Given the description of an element on the screen output the (x, y) to click on. 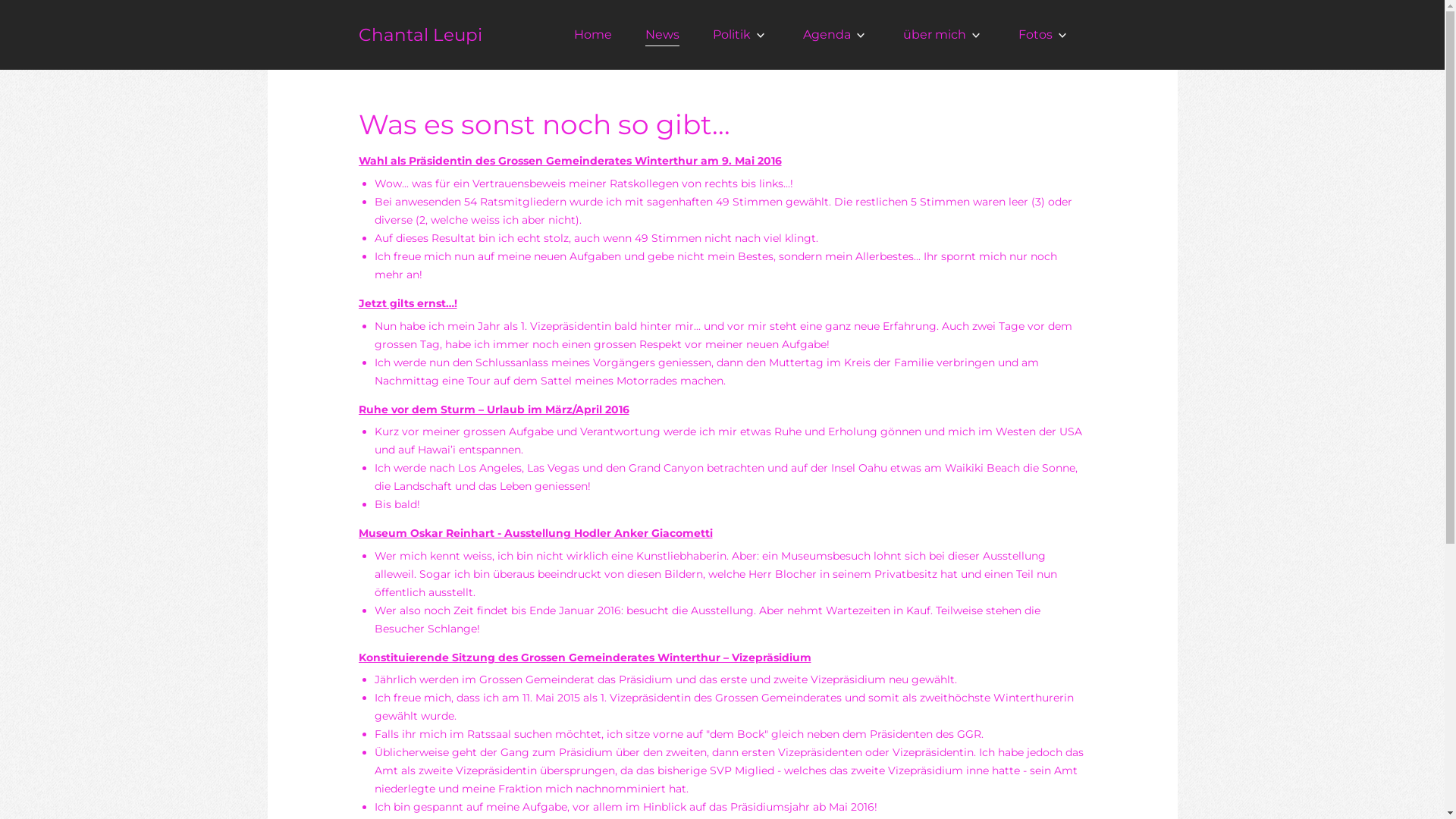
News Element type: text (661, 34)
Home Element type: text (592, 34)
Chantal Leupi Element type: text (419, 34)
